Given the description of an element on the screen output the (x, y) to click on. 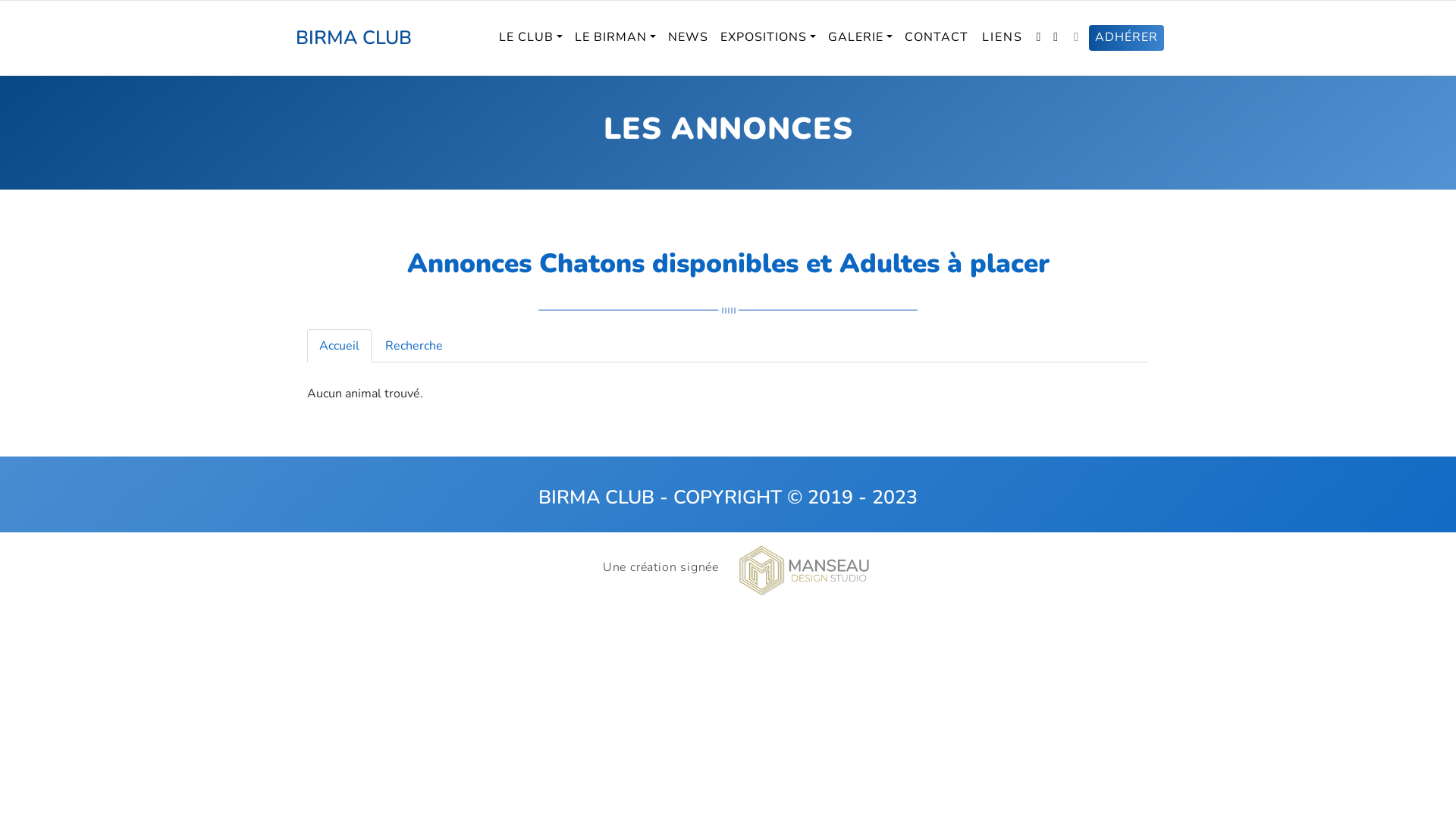
NEWS Element type: text (688, 37)
LIENS Element type: text (1001, 37)
Accueil Element type: text (339, 346)
BIRMA CLUB Element type: text (353, 37)
LE BIRMAN Element type: text (615, 37)
GALERIE Element type: text (860, 37)
CONTACT Element type: text (936, 37)
LE CLUB Element type: text (530, 37)
EXPOSITIONS Element type: text (768, 37)
Recherche Element type: text (414, 346)
